Given the description of an element on the screen output the (x, y) to click on. 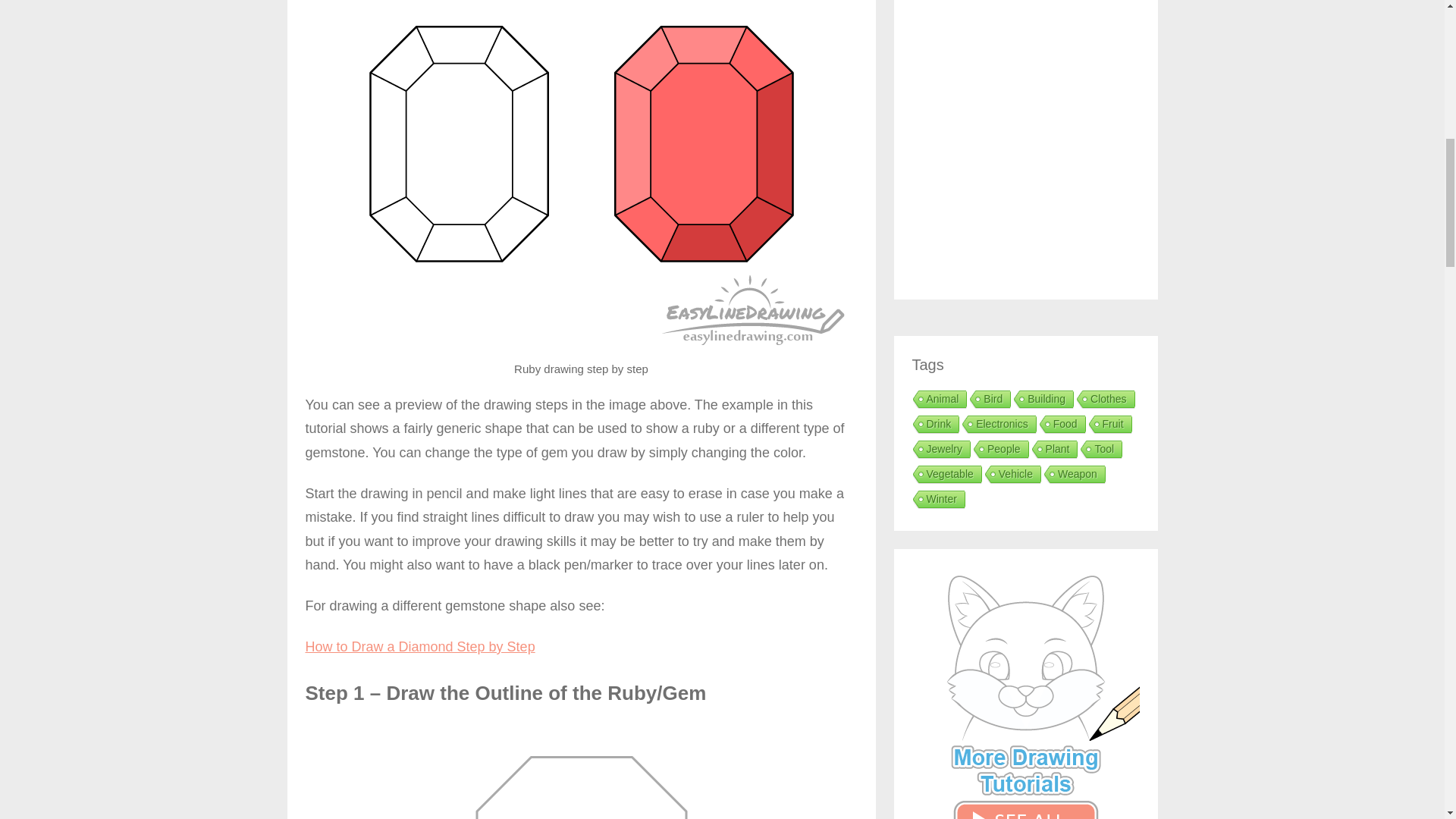
Bird (989, 399)
Food (1060, 424)
Drink (934, 424)
Building (1042, 399)
Clothes (1104, 399)
How to Draw a Diamond Step by Step (419, 646)
People (999, 449)
Electronics (997, 424)
Fruit (1108, 424)
Plant (1053, 449)
Animal (938, 399)
Jewelry (939, 449)
